Given the description of an element on the screen output the (x, y) to click on. 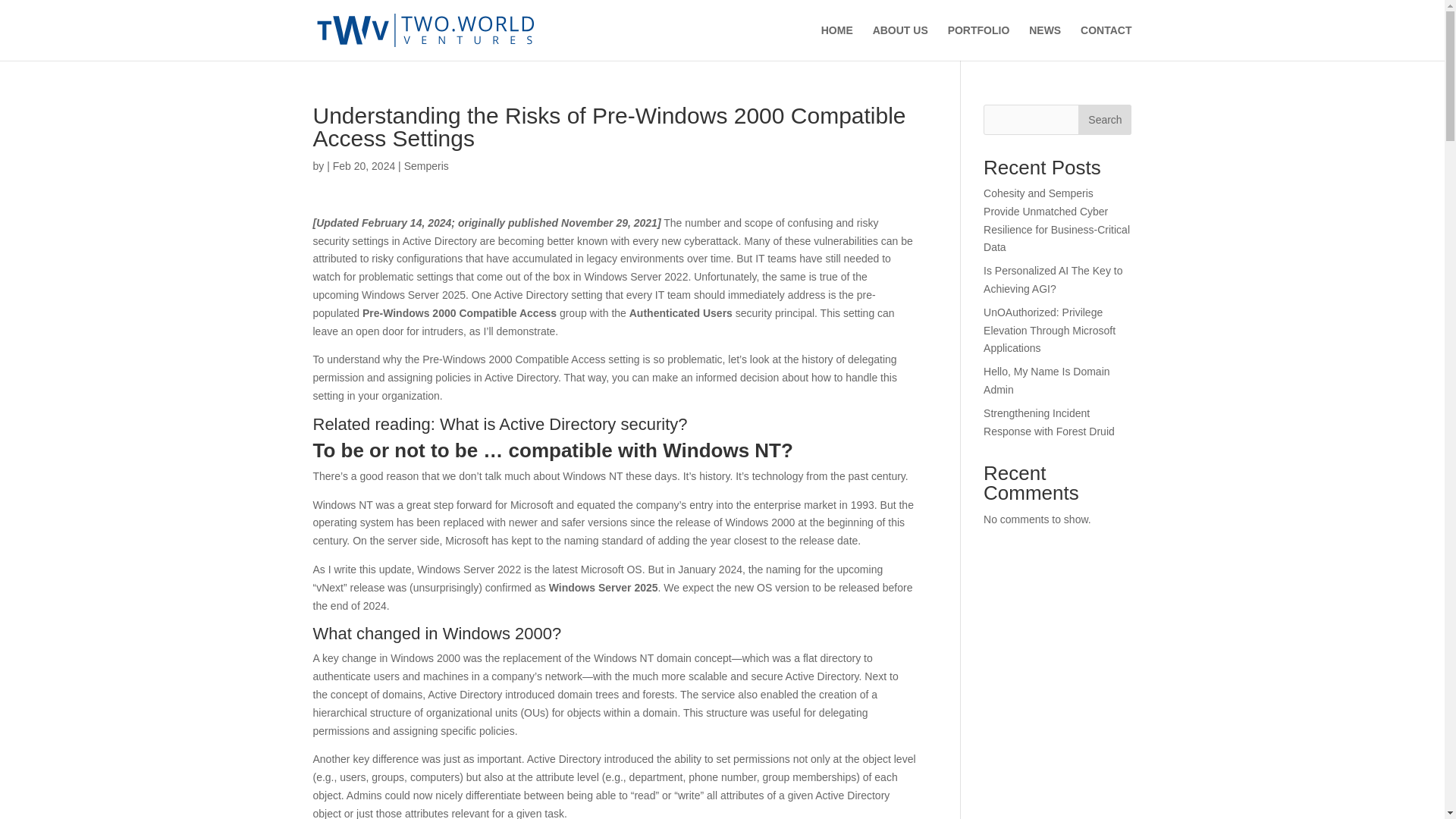
NEWS (1045, 42)
HOME (837, 42)
Semperis (426, 165)
Is Personalized AI The Key to Achieving AGI? (1053, 279)
PORTFOLIO (978, 42)
Search (1104, 119)
ABOUT US (900, 42)
Strengthening Incident Response with Forest Druid (1049, 422)
